Given the description of an element on the screen output the (x, y) to click on. 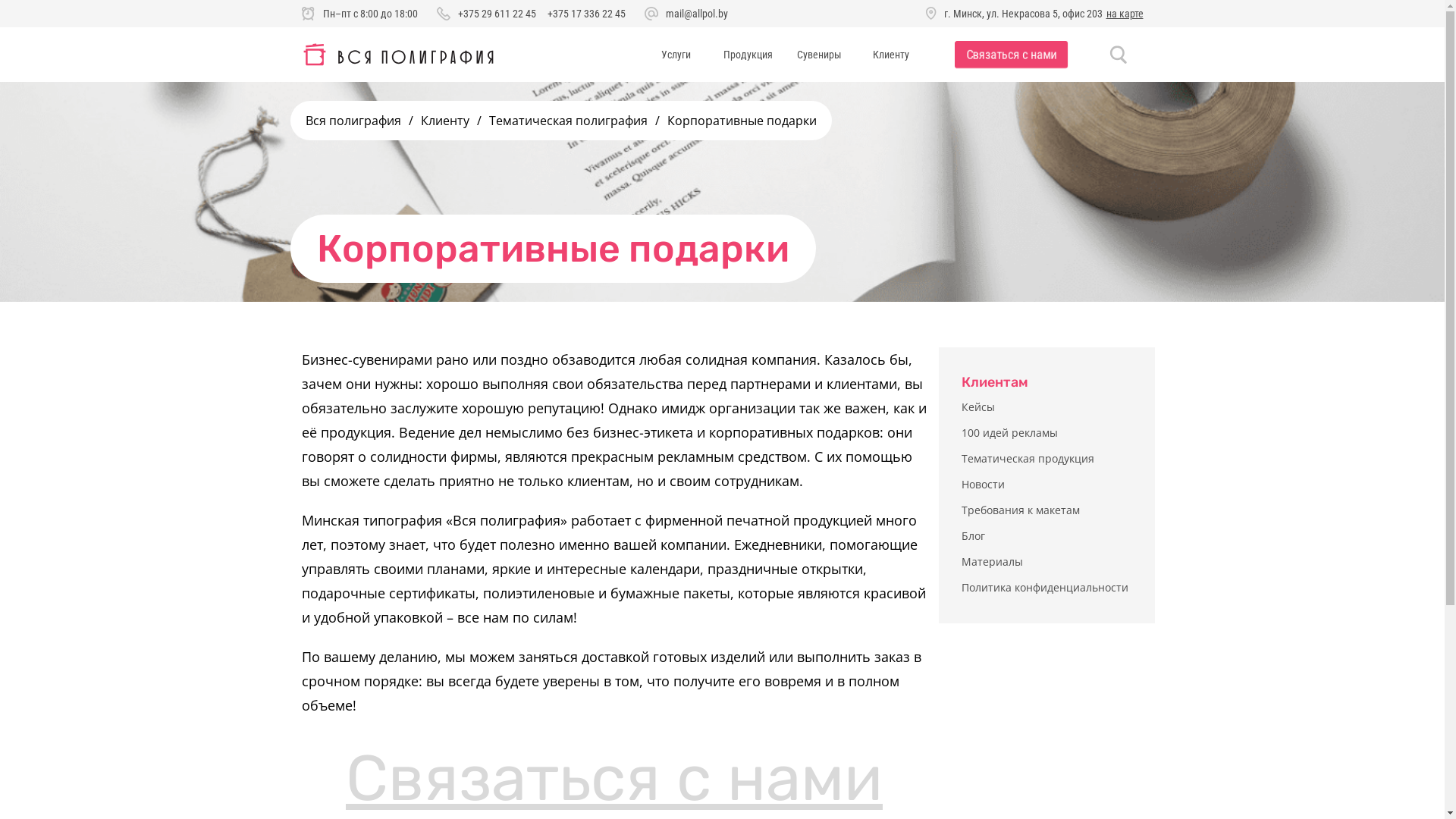
mail@allpol.by Element type: text (696, 13)
+375 17 336 22 45 Element type: text (586, 13)
+375 29 611 22 45 Element type: text (497, 13)
